Given the description of an element on the screen output the (x, y) to click on. 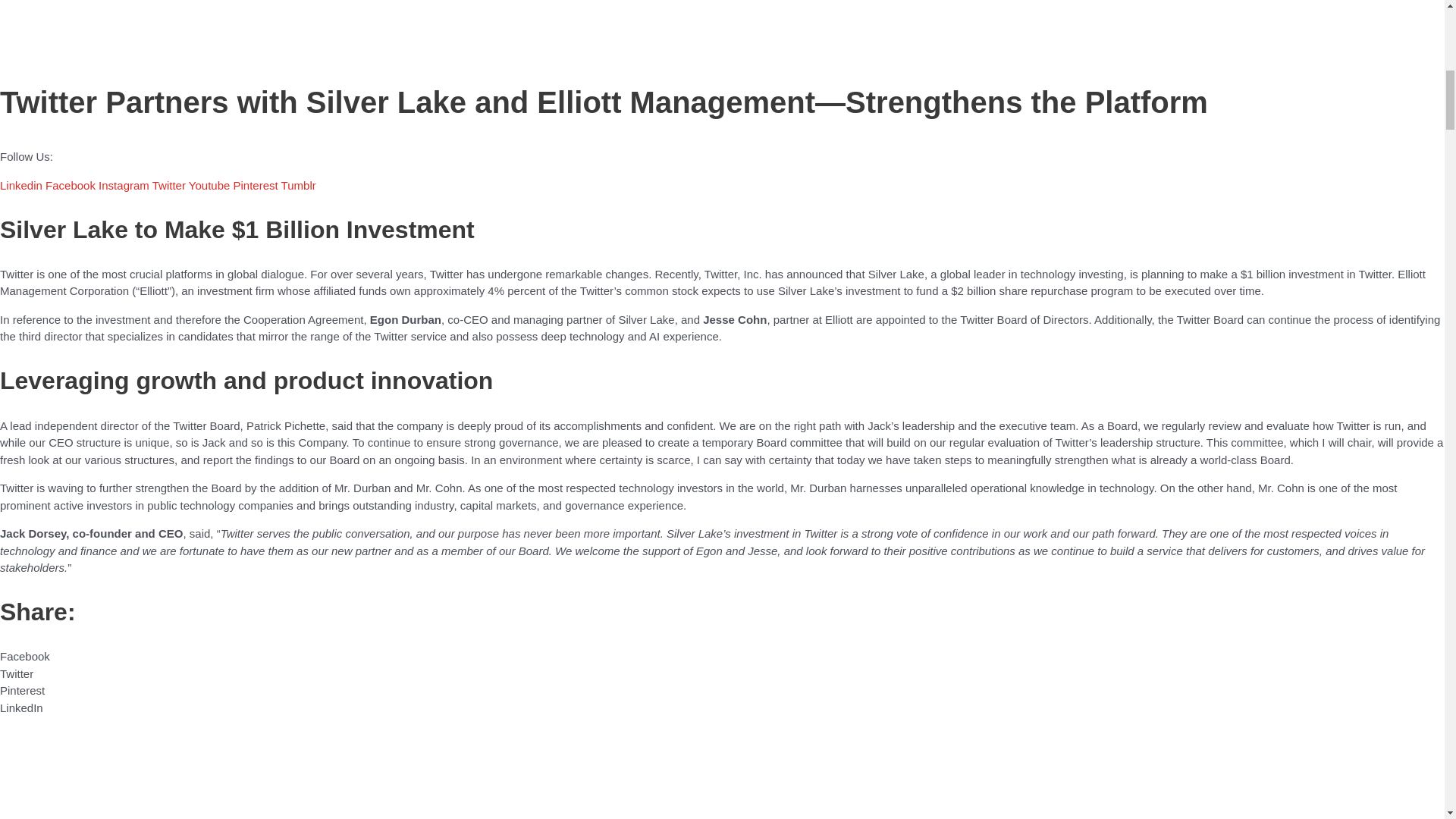
Youtube (210, 185)
Facebook (72, 185)
Instagram (125, 185)
Tumblr (298, 185)
Pinterest (256, 185)
Twitter (170, 185)
Linkedin (22, 185)
